Given the description of an element on the screen output the (x, y) to click on. 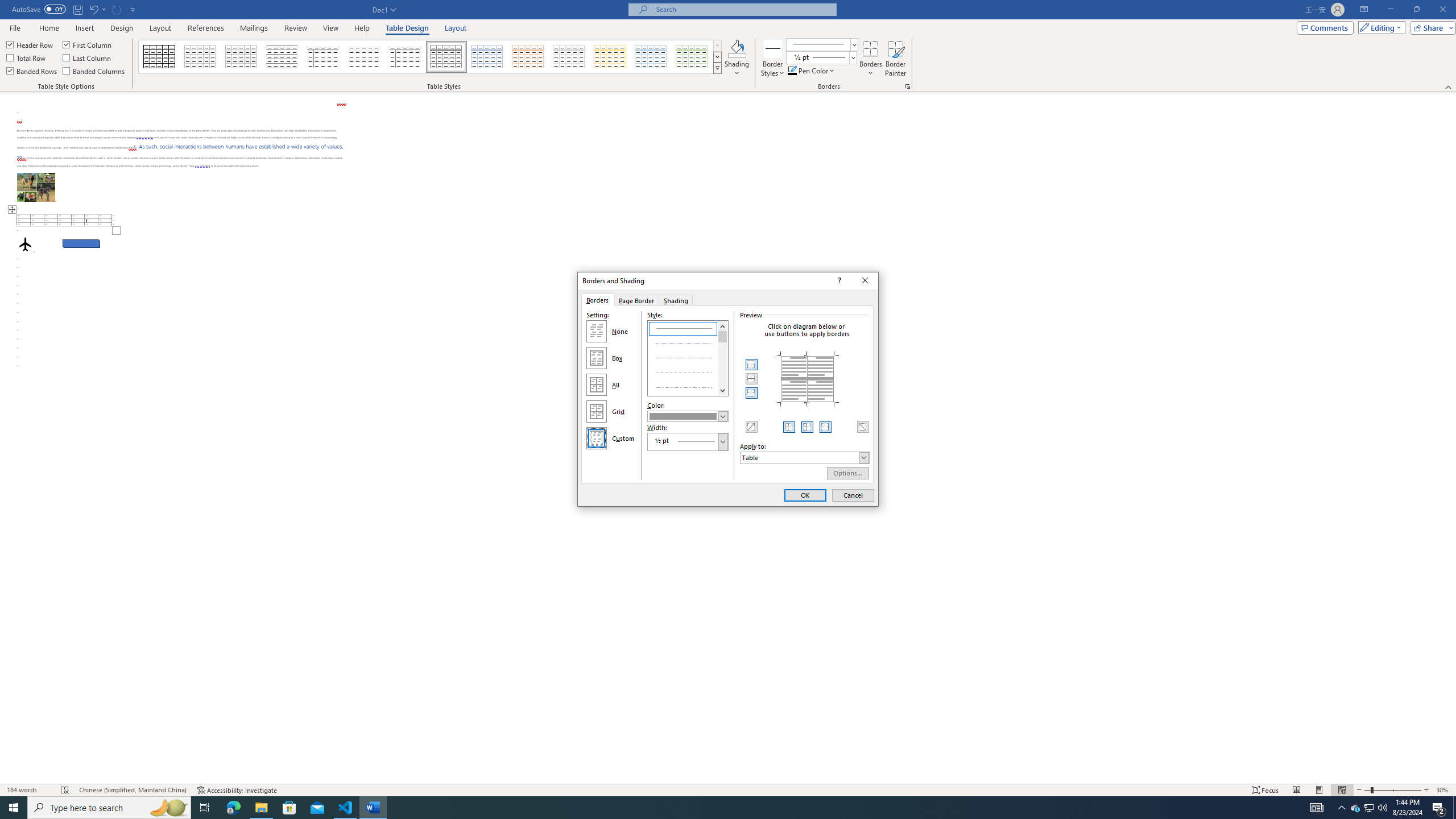
Page down (722, 363)
Dash dot (687, 386)
Grid Table 1 Light - Accent 3 (568, 56)
Grid Table 1 Light - Accent 4 (609, 56)
Dashed (large gap) (687, 371)
Table Grid (159, 56)
Dotted (687, 341)
Cancel (853, 495)
Microsoft Store (289, 807)
Plain Table 1 (241, 56)
Last Column (88, 56)
Width: (687, 441)
Options... (848, 472)
